Given the description of an element on the screen output the (x, y) to click on. 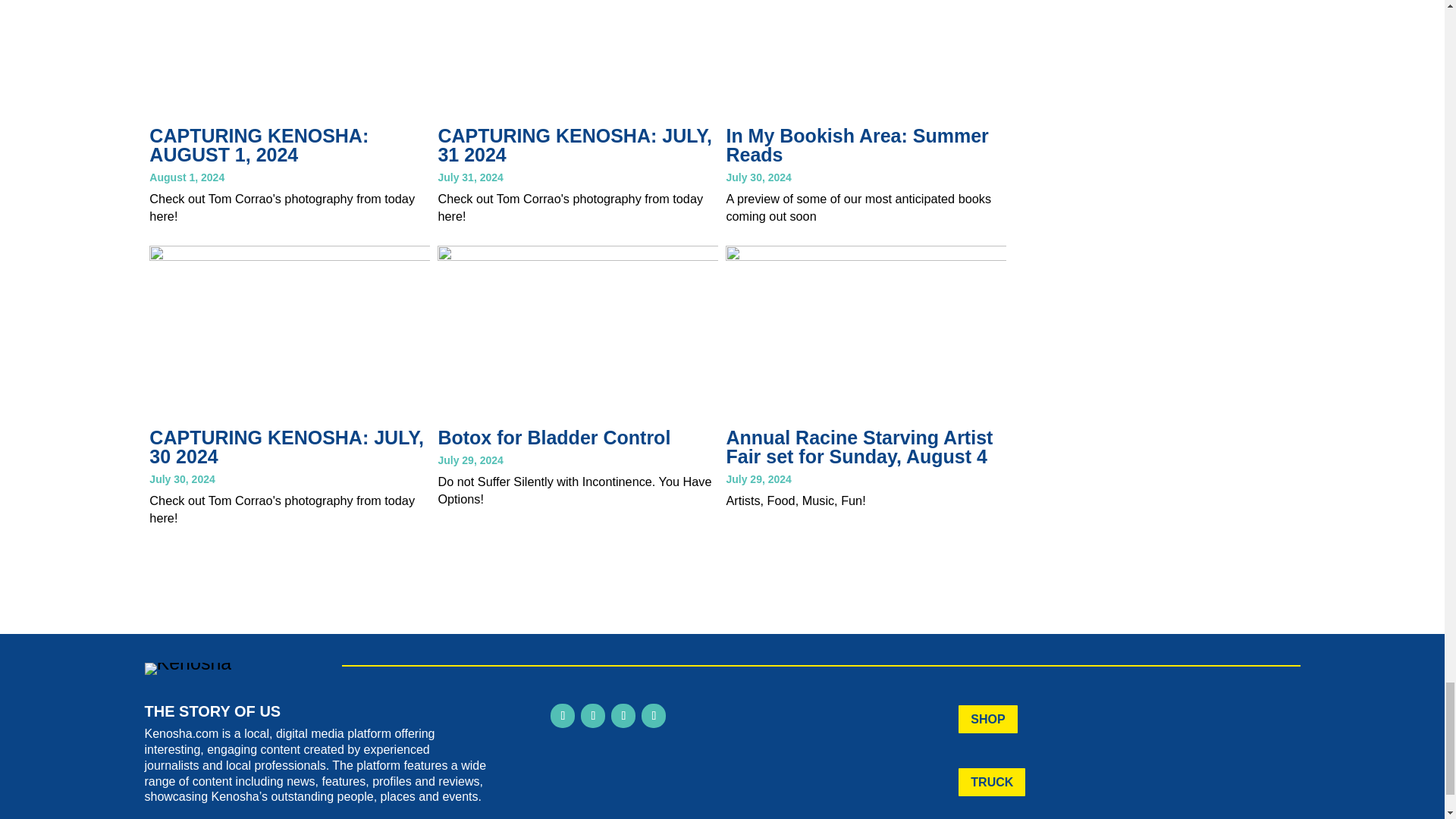
Follow on Instagram (592, 715)
Follow on Facebook (562, 715)
footer-logo (187, 668)
Follow on LinkedIn (622, 715)
